Given the description of an element on the screen output the (x, y) to click on. 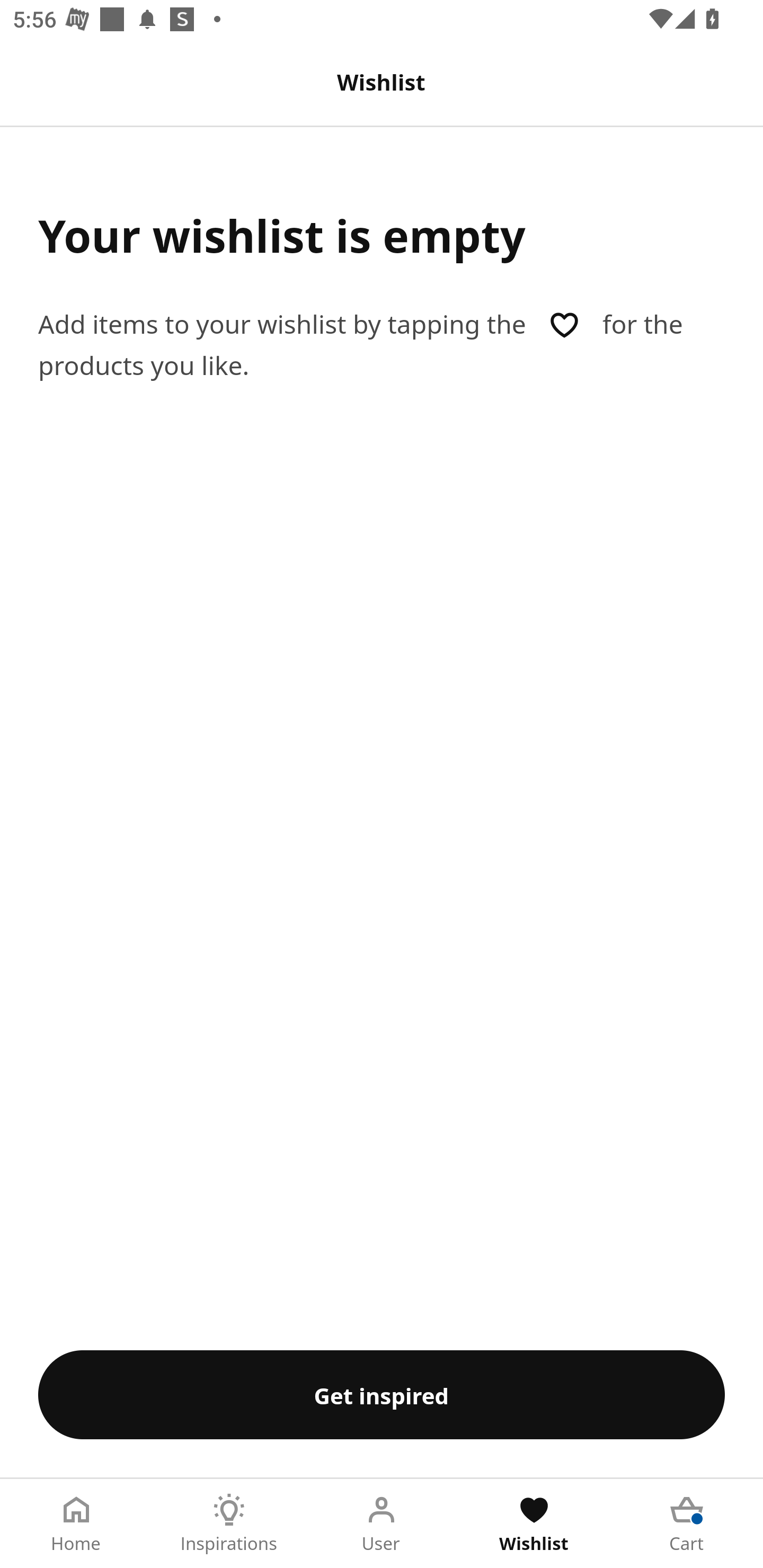
Get inspired (381, 1394)
Home
Tab 1 of 5 (76, 1522)
Inspirations
Tab 2 of 5 (228, 1522)
User
Tab 3 of 5 (381, 1522)
Wishlist
Tab 4 of 5 (533, 1522)
Cart
Tab 5 of 5 (686, 1522)
